Given the description of an element on the screen output the (x, y) to click on. 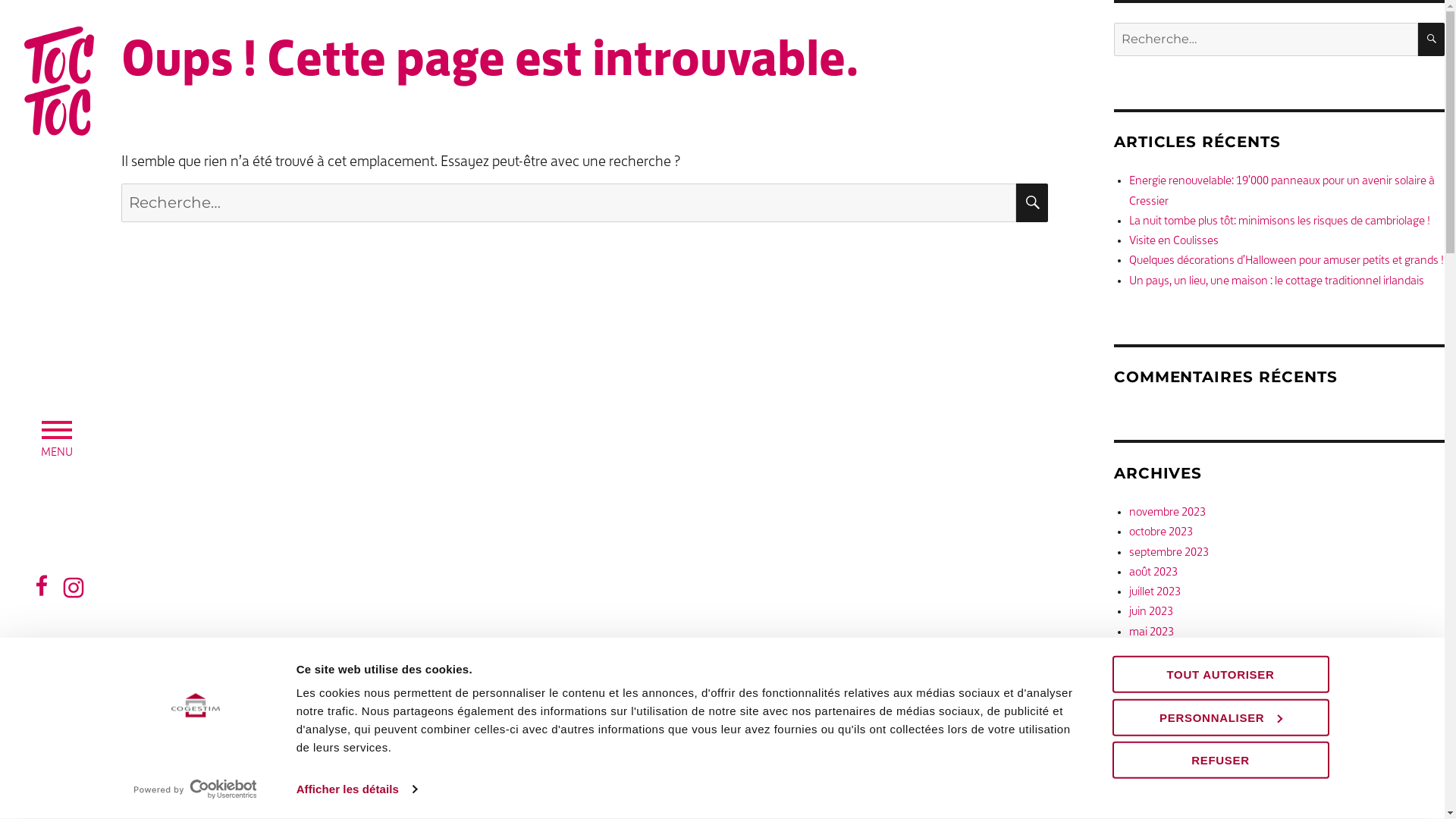
novembre 2023 Element type: text (1167, 512)
REFUSER Element type: text (1219, 759)
RECHERCHE Element type: text (1431, 38)
RECHERCHE Element type: text (1032, 202)
octobre 2022 Element type: text (1160, 771)
septembre 2022 Element type: text (1168, 791)
octobre 2023 Element type: text (1160, 532)
mai 2023 Element type: text (1151, 632)
avril 2023 Element type: text (1152, 652)
mars 2023 Element type: text (1154, 671)
TOUT AUTORISER Element type: text (1219, 674)
juin 2023 Element type: text (1151, 611)
Visite en Coulisses Element type: text (1173, 241)
novembre 2022 Element type: text (1167, 751)
janvier 2023 Element type: text (1158, 711)
juillet 2023 Element type: text (1154, 592)
septembre 2023 Element type: text (1168, 552)
PERSONNALISER Element type: text (1219, 716)
